Given the description of an element on the screen output the (x, y) to click on. 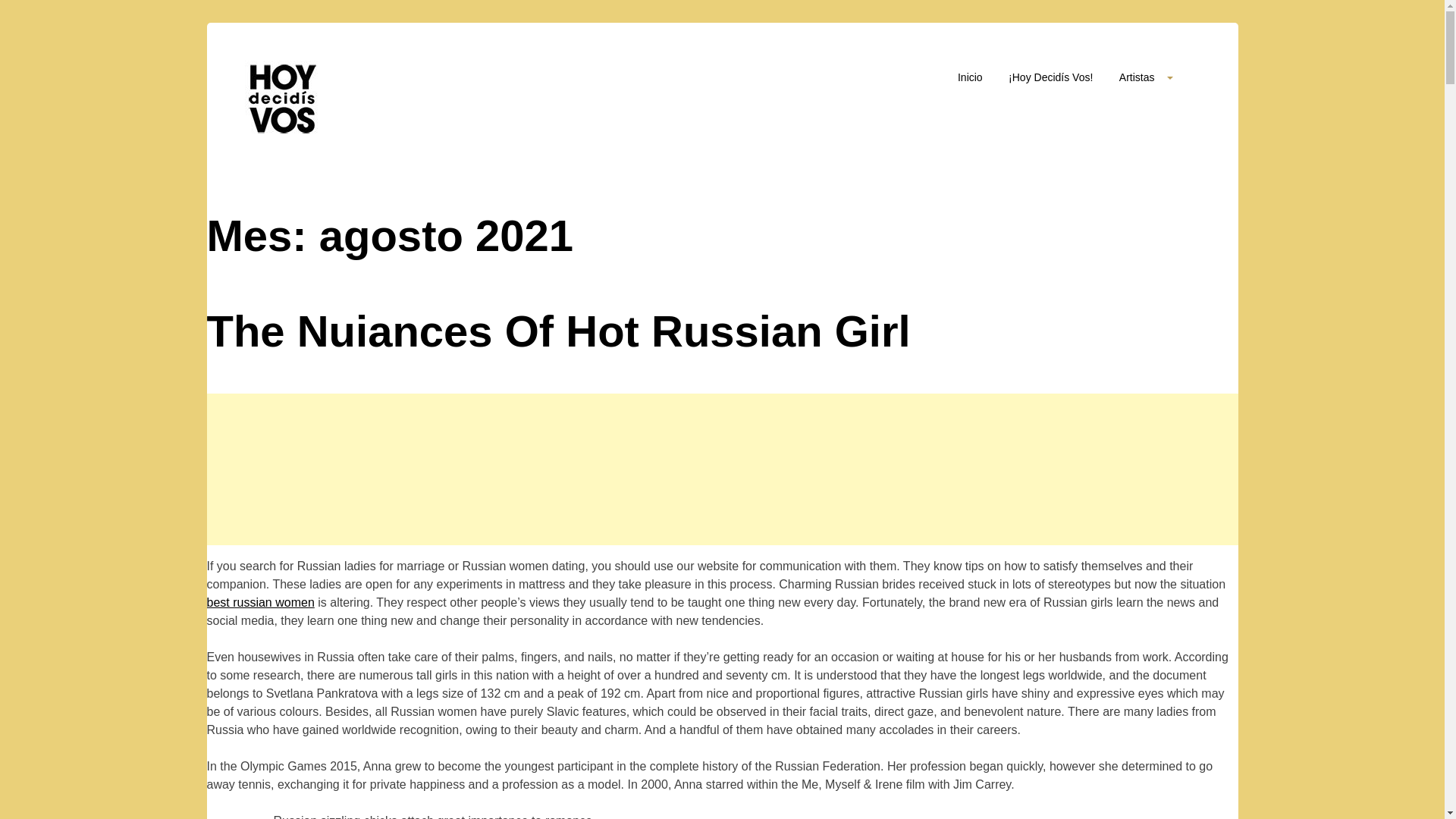
best russian women (260, 602)
Inicio (970, 81)
The Nuiances Of Hot Russian Girl (721, 330)
Artistas (1146, 77)
